Given the description of an element on the screen output the (x, y) to click on. 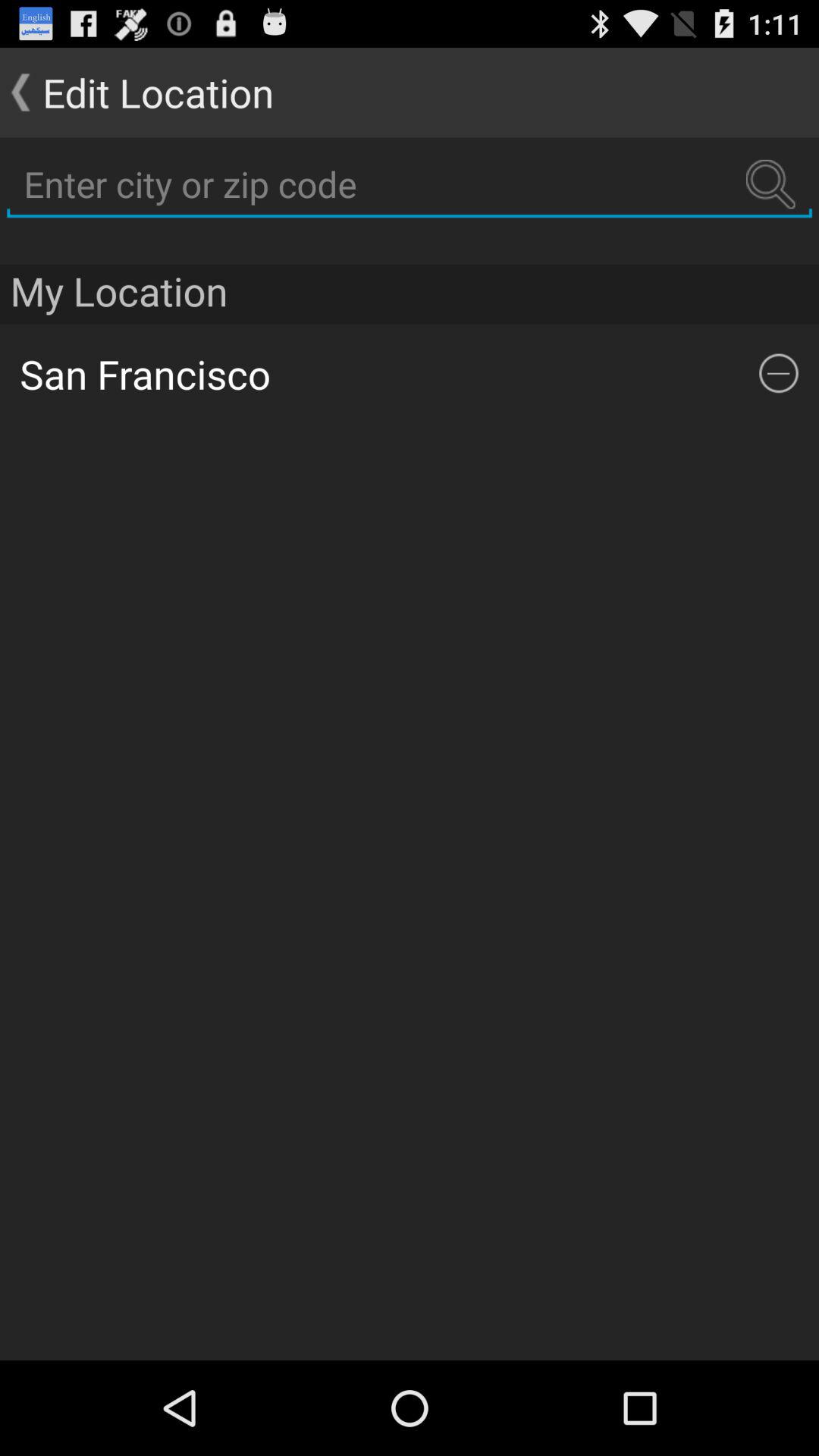
flip until the san francisco item (399, 373)
